Given the description of an element on the screen output the (x, y) to click on. 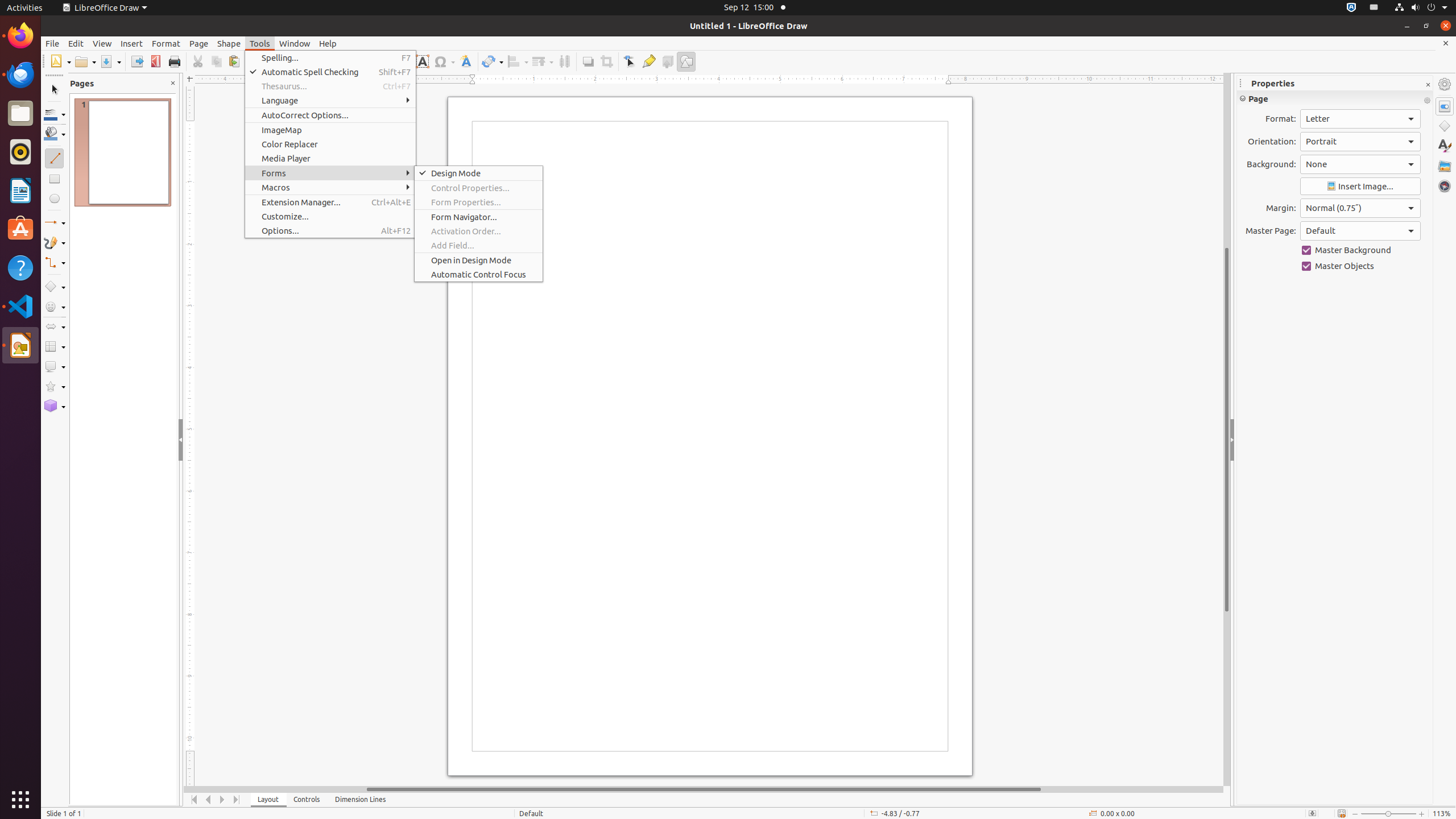
Close Pane Element type: push-button (172, 82)
Move To Home Element type: push-button (194, 799)
Master Background Element type: check-box (1360, 249)
Options... Element type: menu-item (330, 230)
ImageMap Element type: check-menu-item (330, 129)
